Given the description of an element on the screen output the (x, y) to click on. 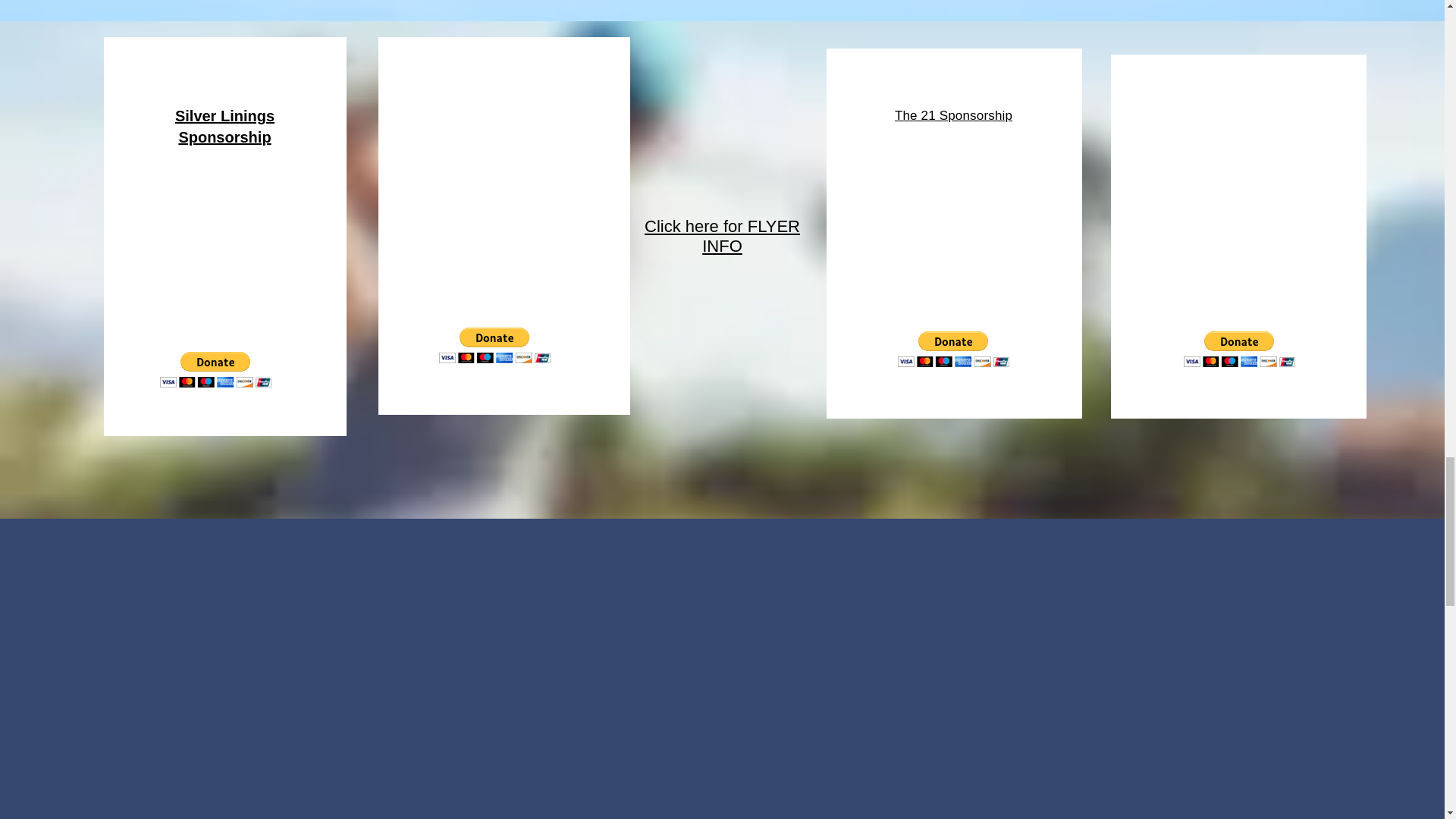
The 21 Sponsorship (953, 115)
Click here for FLYER INFO (722, 236)
Silver Linings Sponsorship (224, 126)
